Given the description of an element on the screen output the (x, y) to click on. 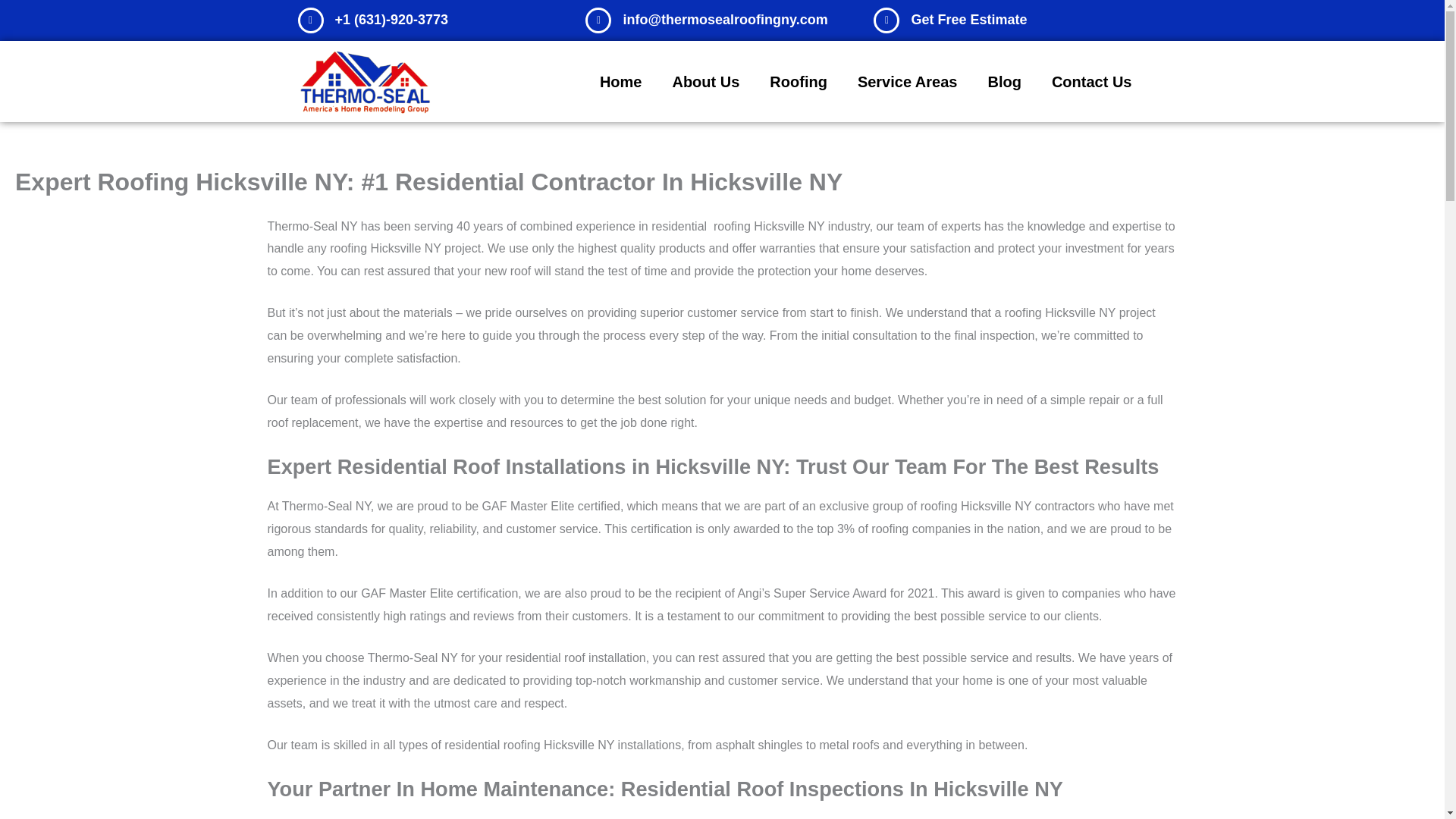
Roofing (798, 81)
Service Areas (907, 81)
Contact Us (1091, 81)
About Us (705, 81)
Home (621, 81)
Blog (1003, 81)
Get Free Estimate (968, 19)
